Given the description of an element on the screen output the (x, y) to click on. 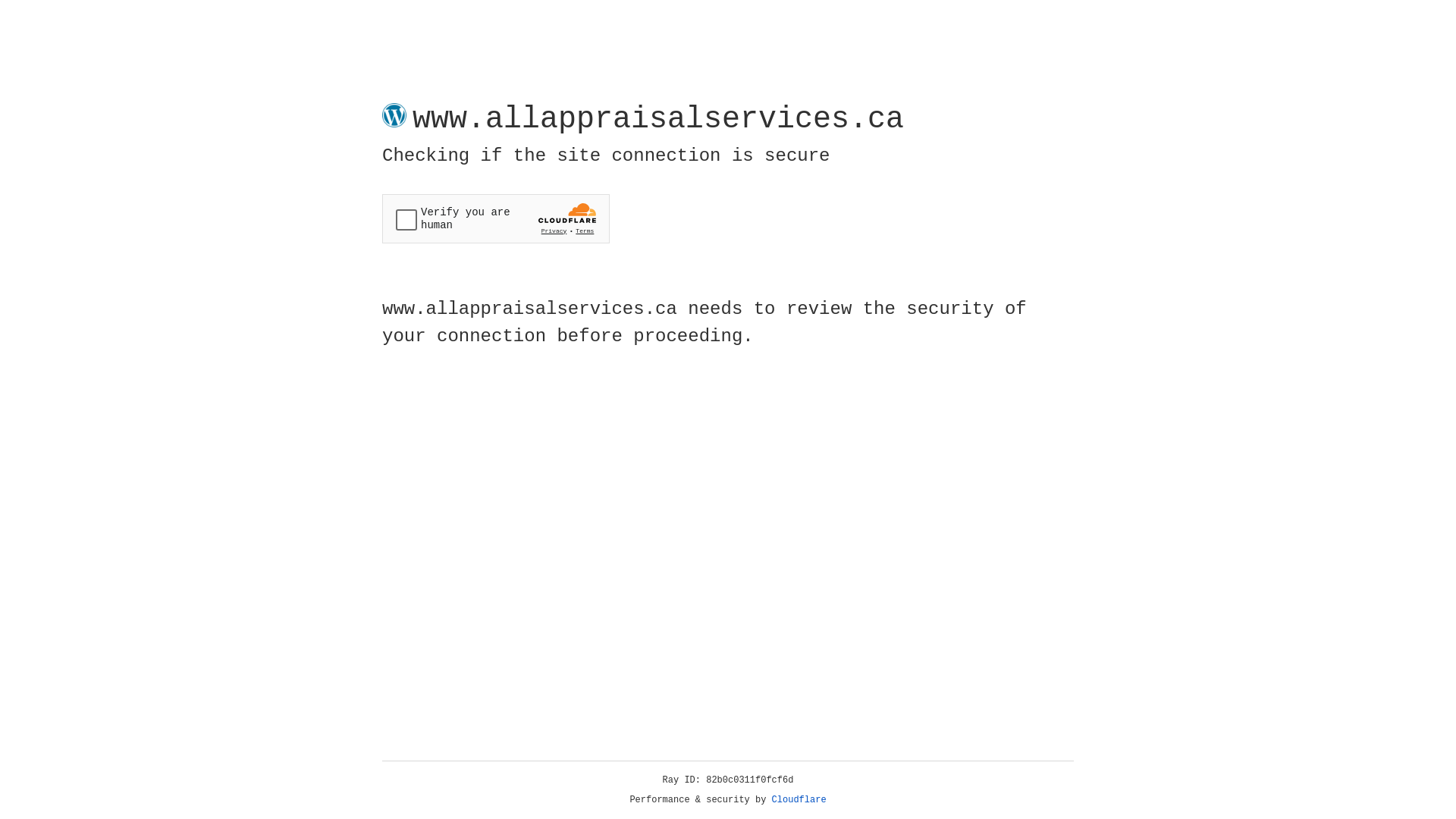
Cloudflare Element type: text (798, 799)
Widget containing a Cloudflare security challenge Element type: hover (495, 218)
